Given the description of an element on the screen output the (x, y) to click on. 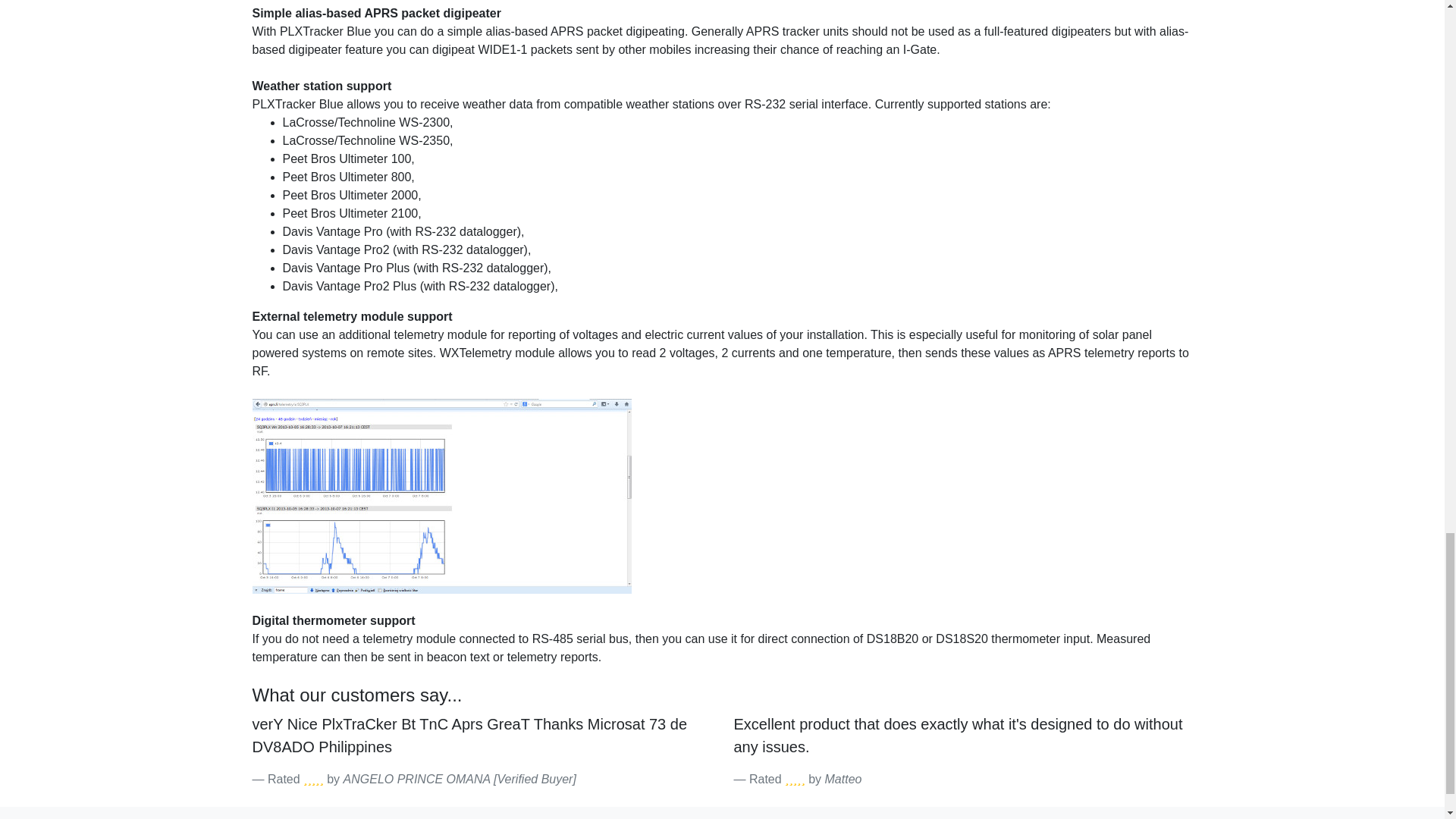
5 (794, 779)
Matteo (843, 779)
5 (312, 779)
